Given the description of an element on the screen output the (x, y) to click on. 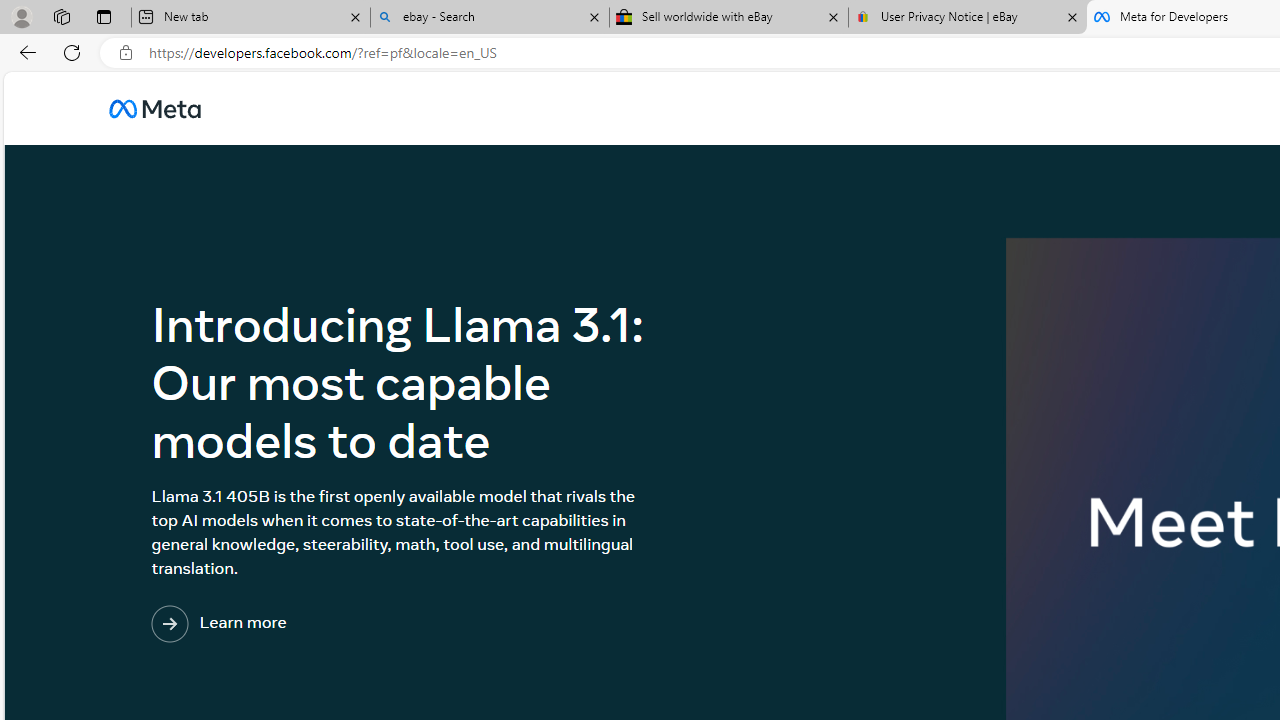
User Privacy Notice | eBay (967, 17)
Learn more (301, 624)
AutomationID: u_0_25_3H (155, 107)
ebay - Search (490, 17)
Sell worldwide with eBay (729, 17)
